Given the description of an element on the screen output the (x, y) to click on. 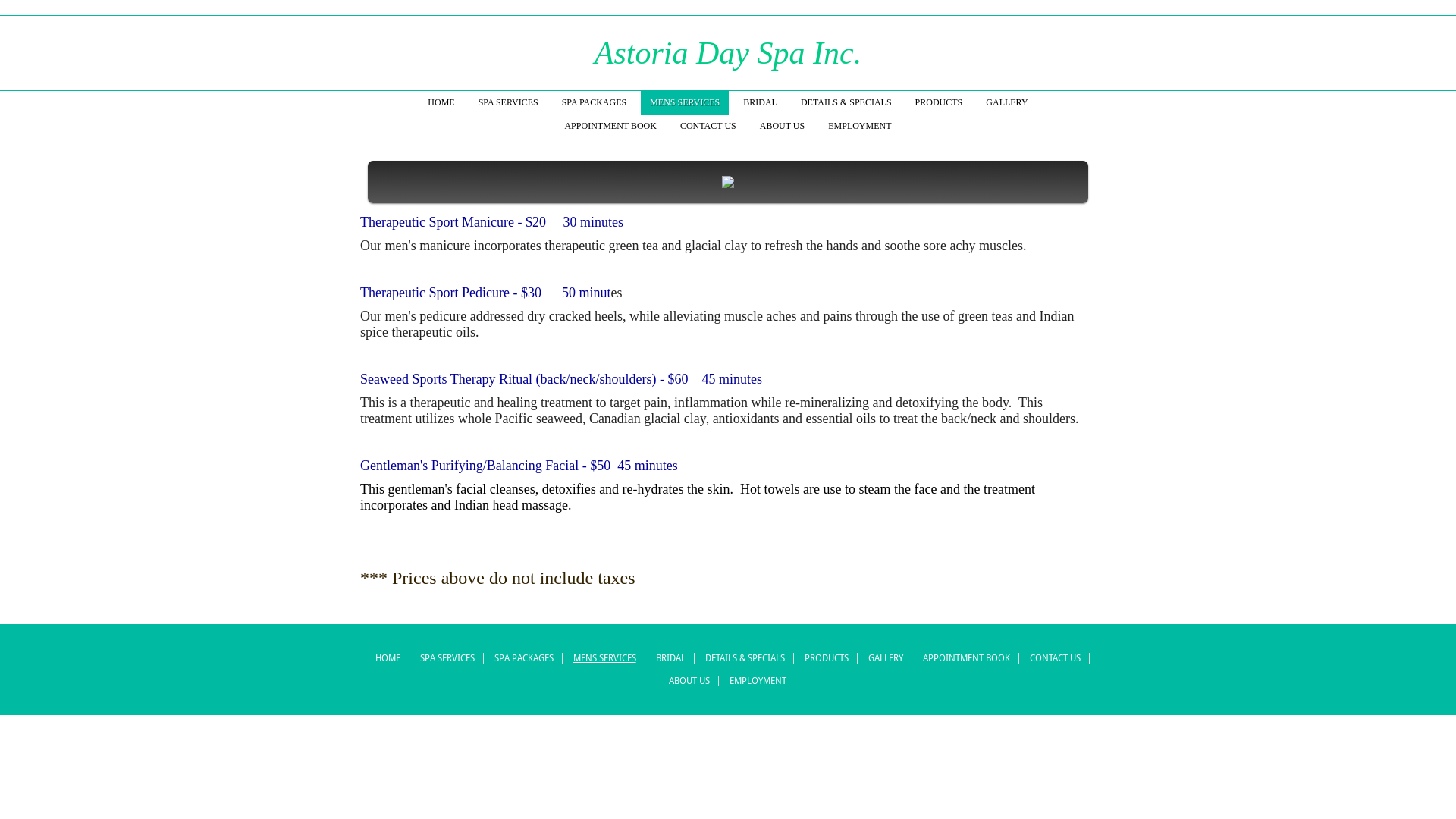
GALLERY Element type: text (885, 657)
MENS SERVICES Element type: text (603, 657)
CONTACT US Element type: text (708, 126)
Astoria Day Spa Inc. Element type: text (727, 52)
PRODUCTS Element type: text (826, 657)
APPOINTMENT BOOK Element type: text (966, 657)
PRODUCTS Element type: text (939, 102)
SPA PACKAGES Element type: text (523, 657)
SPA SERVICES Element type: text (508, 102)
DETAILS & SPECIALS Element type: text (744, 657)
CONTACT US Element type: text (1054, 657)
ABOUT US Element type: text (689, 680)
HOME Element type: text (387, 657)
EMPLOYMENT Element type: text (757, 680)
GALLERY Element type: text (1006, 102)
EMPLOYMENT Element type: text (859, 126)
MENS SERVICES Element type: text (684, 102)
HOME Element type: text (440, 102)
BRIDAL Element type: text (760, 102)
ABOUT US Element type: text (781, 126)
APPOINTMENT BOOK Element type: text (610, 126)
BRIDAL Element type: text (670, 657)
SPA SERVICES Element type: text (446, 657)
DETAILS & SPECIALS Element type: text (845, 102)
SPA PACKAGES Element type: text (594, 102)
